Given the description of an element on the screen output the (x, y) to click on. 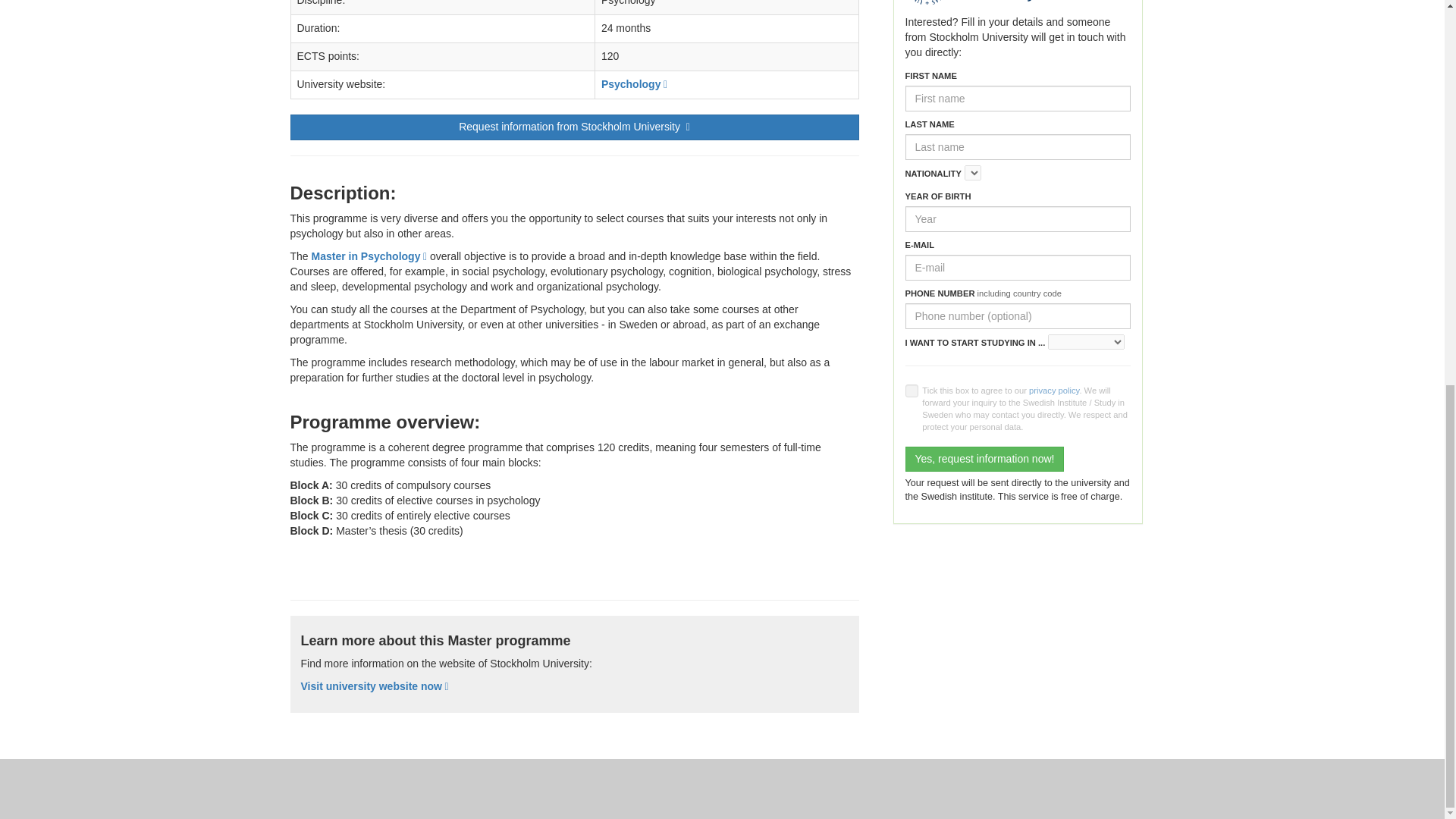
privacy policy (1053, 389)
Visit university website (373, 686)
Visit university website (633, 83)
Yes, request information now! (984, 459)
Stockholm University - Logo (972, 2)
Request information from Stockholm University   (574, 127)
Visit university website now (373, 686)
Master in Psychology (369, 256)
Psychology (633, 83)
